Given the description of an element on the screen output the (x, y) to click on. 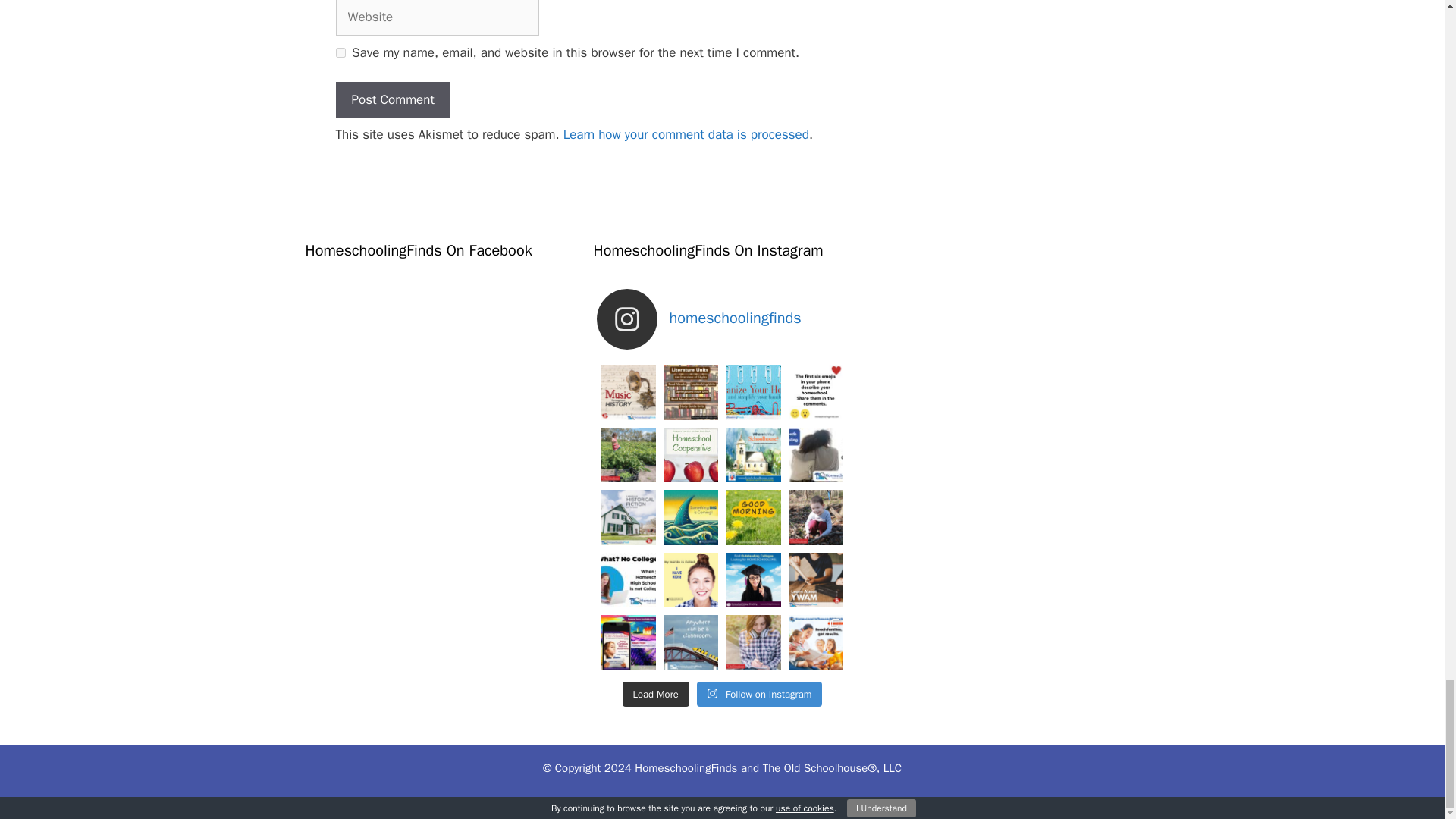
yes (339, 52)
Post Comment (391, 99)
